Given the description of an element on the screen output the (x, y) to click on. 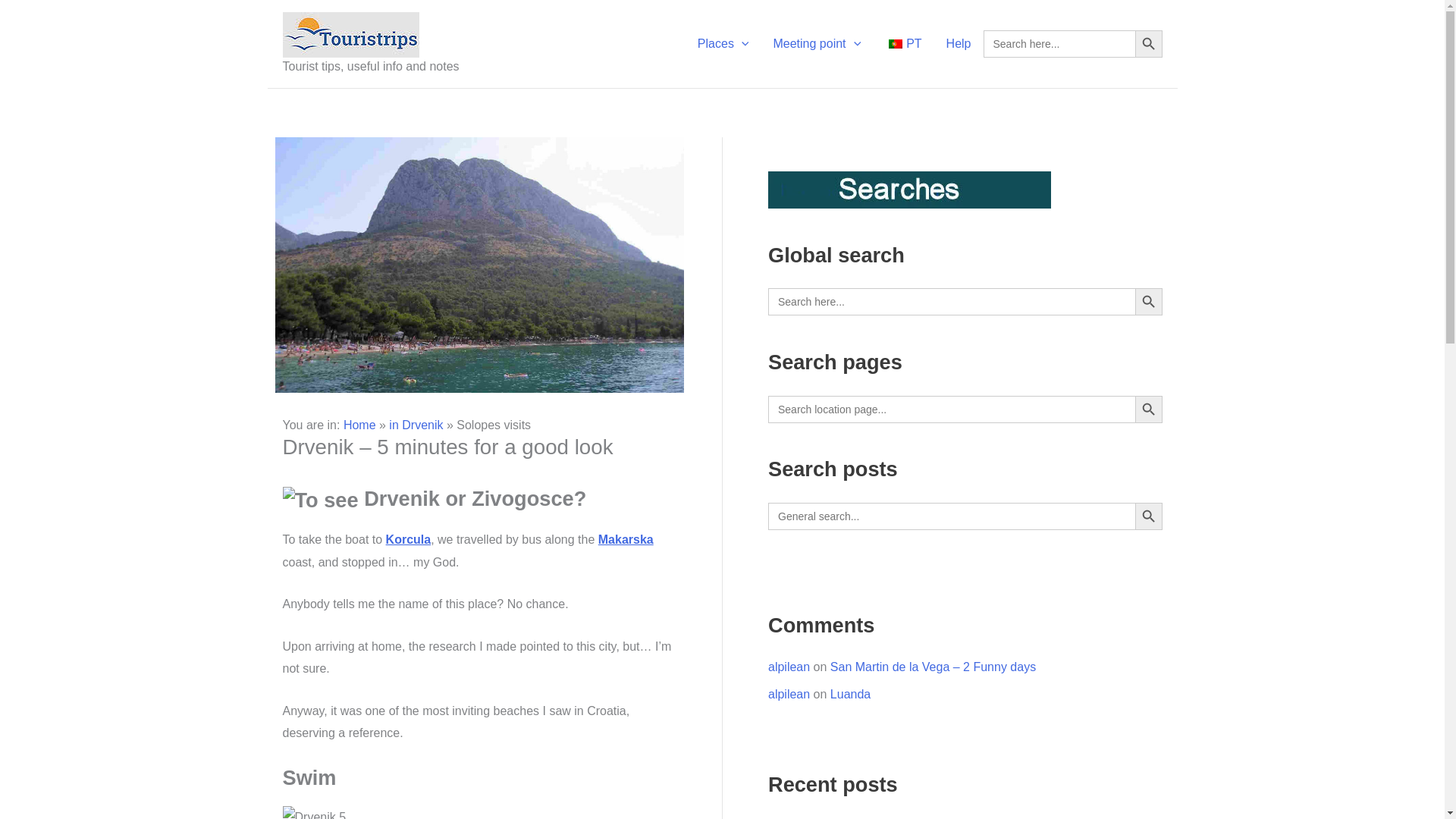
Drvenik - 5 minutes for a good look 5 (314, 812)
in Drvenik (415, 424)
Places (723, 43)
PT (902, 43)
Meeting point (816, 43)
Korcula (407, 539)
Makarska (625, 539)
Search Button (1147, 43)
Drvenik - 5 minutes for a good look 3 (320, 499)
Drvenik - 5 minutes for a good look 1 (479, 265)
Home (359, 424)
